Given the description of an element on the screen output the (x, y) to click on. 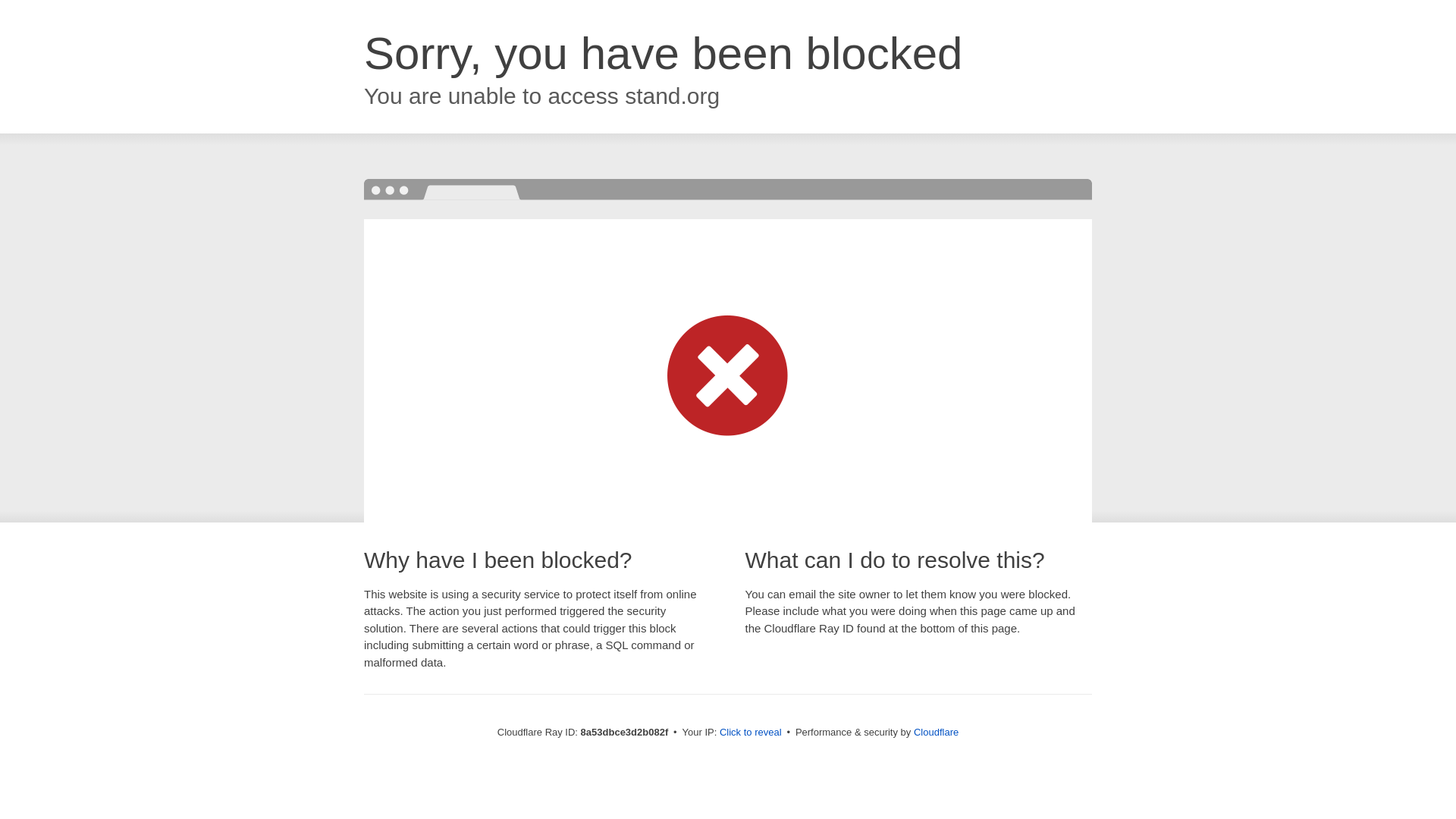
Click to reveal (750, 732)
Cloudflare (936, 731)
